Given the description of an element on the screen output the (x, y) to click on. 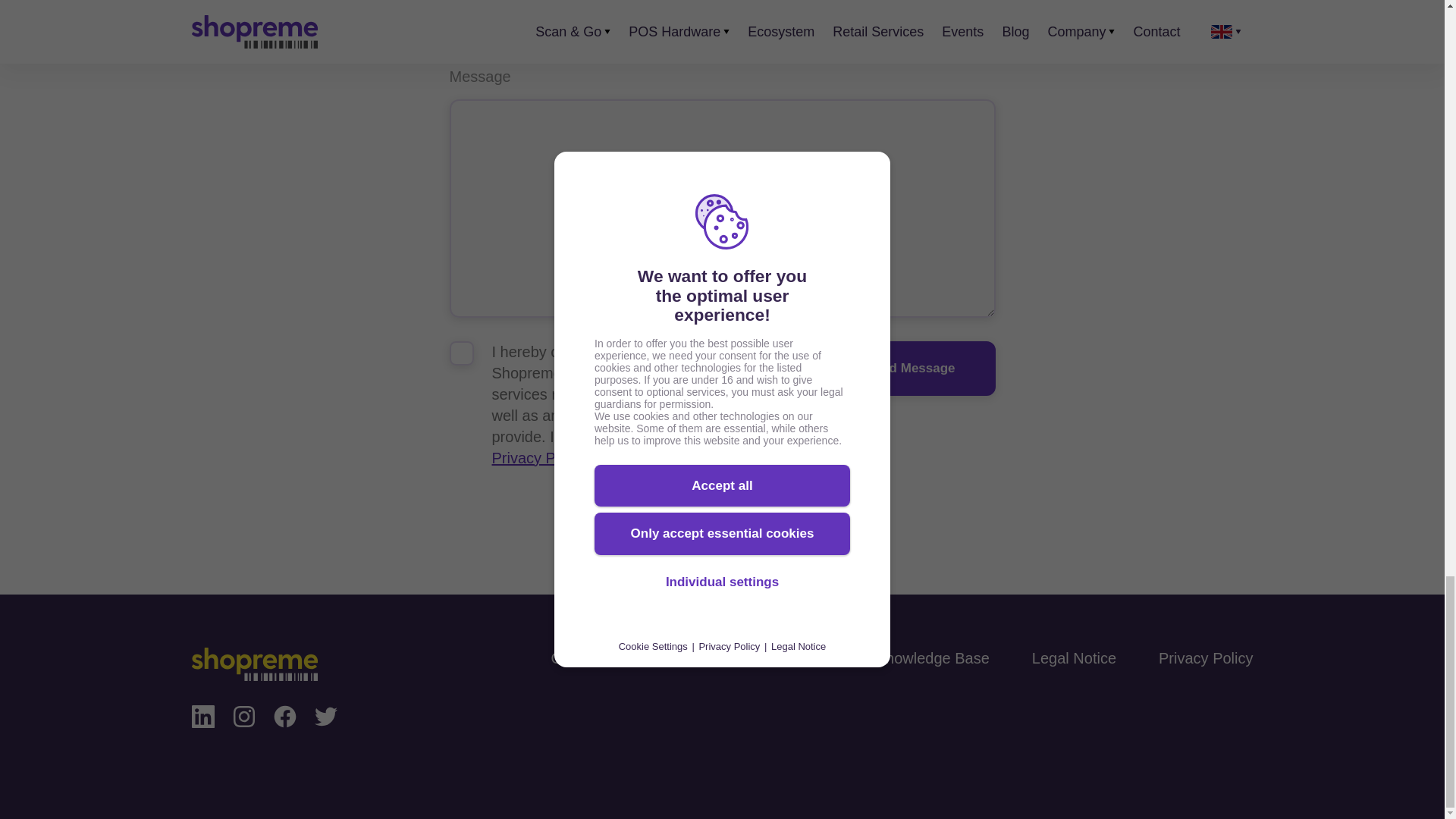
Send Message (909, 368)
Privacy Policy (538, 457)
Jobs (662, 658)
Send Message (909, 368)
Contact (577, 658)
